Given the description of an element on the screen output the (x, y) to click on. 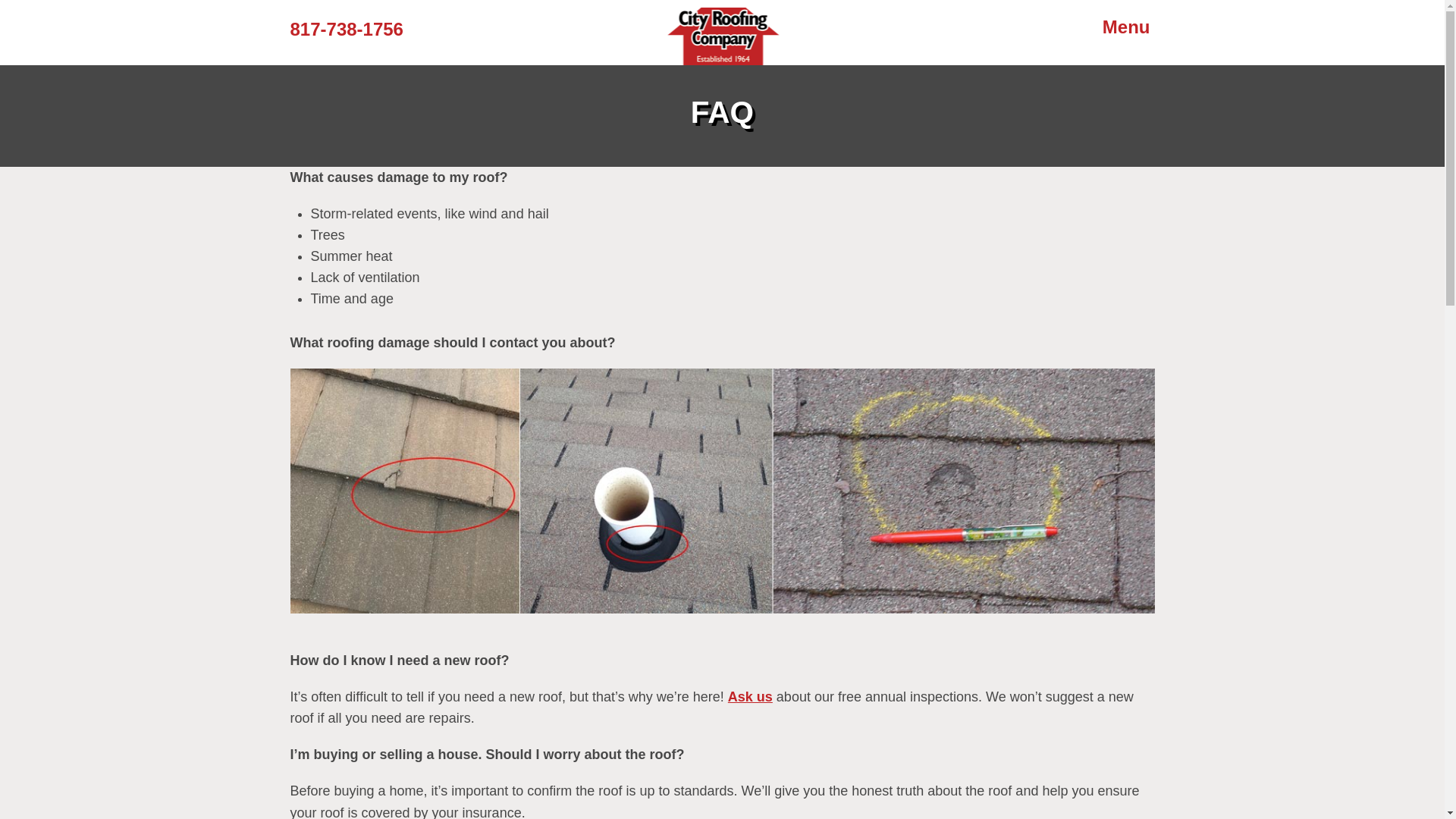
Menu (1125, 26)
817-738-1756 (346, 28)
Ask us (750, 696)
